Given the description of an element on the screen output the (x, y) to click on. 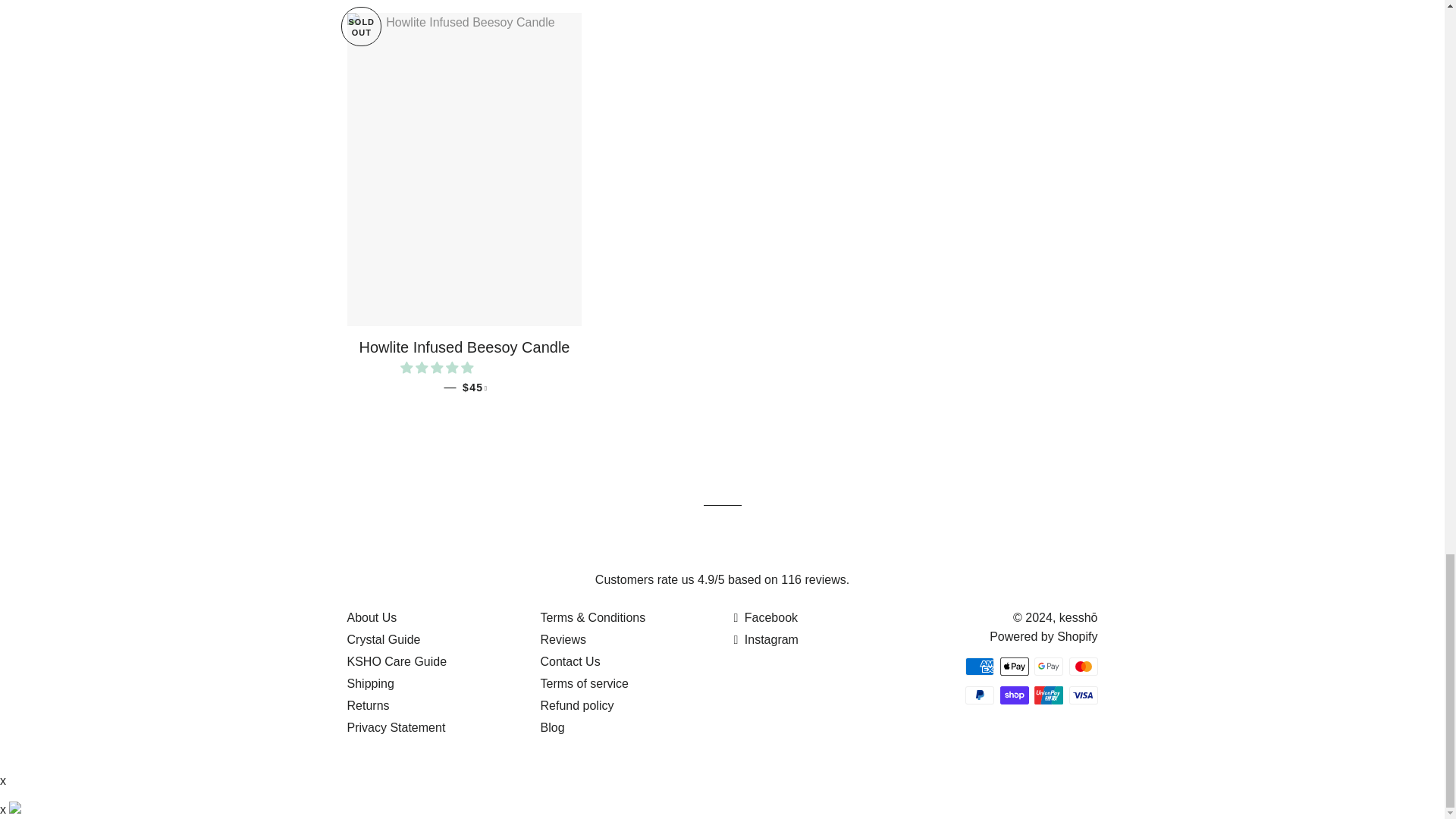
Shop Pay (1012, 695)
Apple Pay (1012, 666)
Union Pay (1047, 695)
Google Pay (1047, 666)
PayPal (979, 695)
Mastercard (1082, 666)
American Express (979, 666)
Visa (1082, 695)
